Given the description of an element on the screen output the (x, y) to click on. 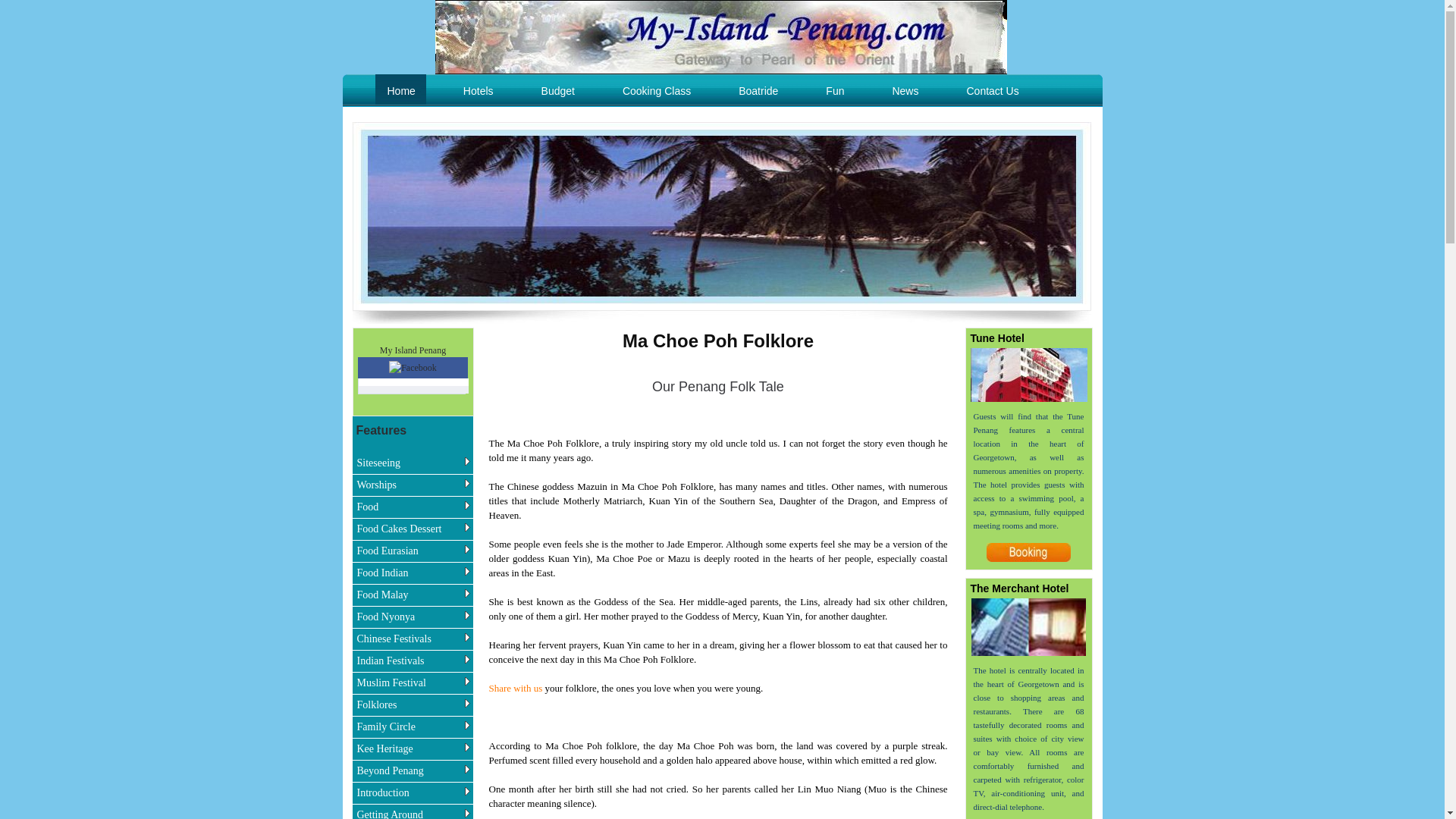
Budget (557, 90)
Boatride (757, 90)
Cooking Class (655, 90)
News (903, 90)
Home (399, 89)
Hotels (477, 90)
Fun (833, 90)
